Given the description of an element on the screen output the (x, y) to click on. 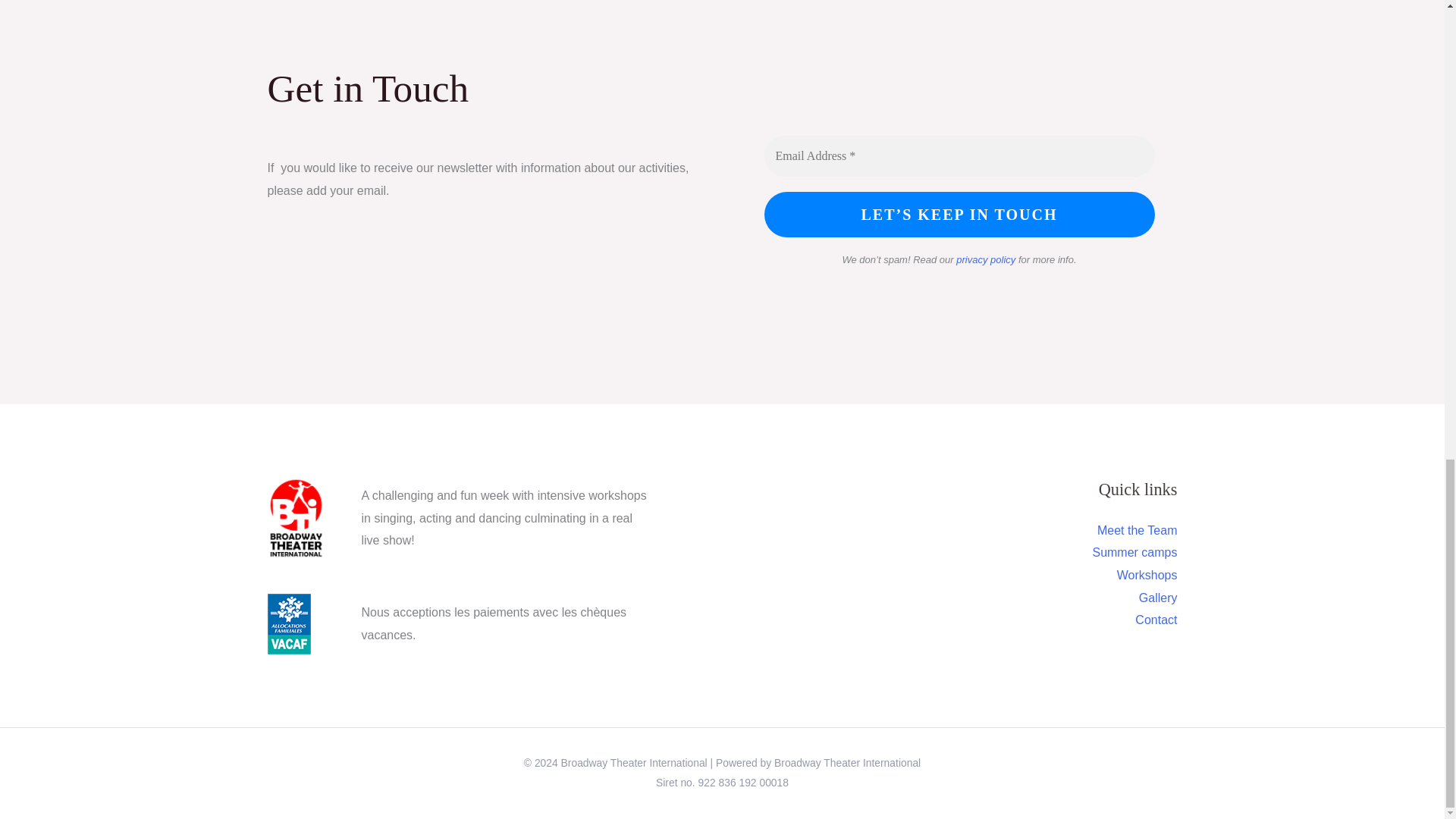
privacy policy (985, 259)
Meet the Team (1137, 530)
Contact (1155, 619)
Summer camps (1134, 552)
Workshops (1146, 574)
Email Address (959, 155)
Gallery (1157, 597)
